Given the description of an element on the screen output the (x, y) to click on. 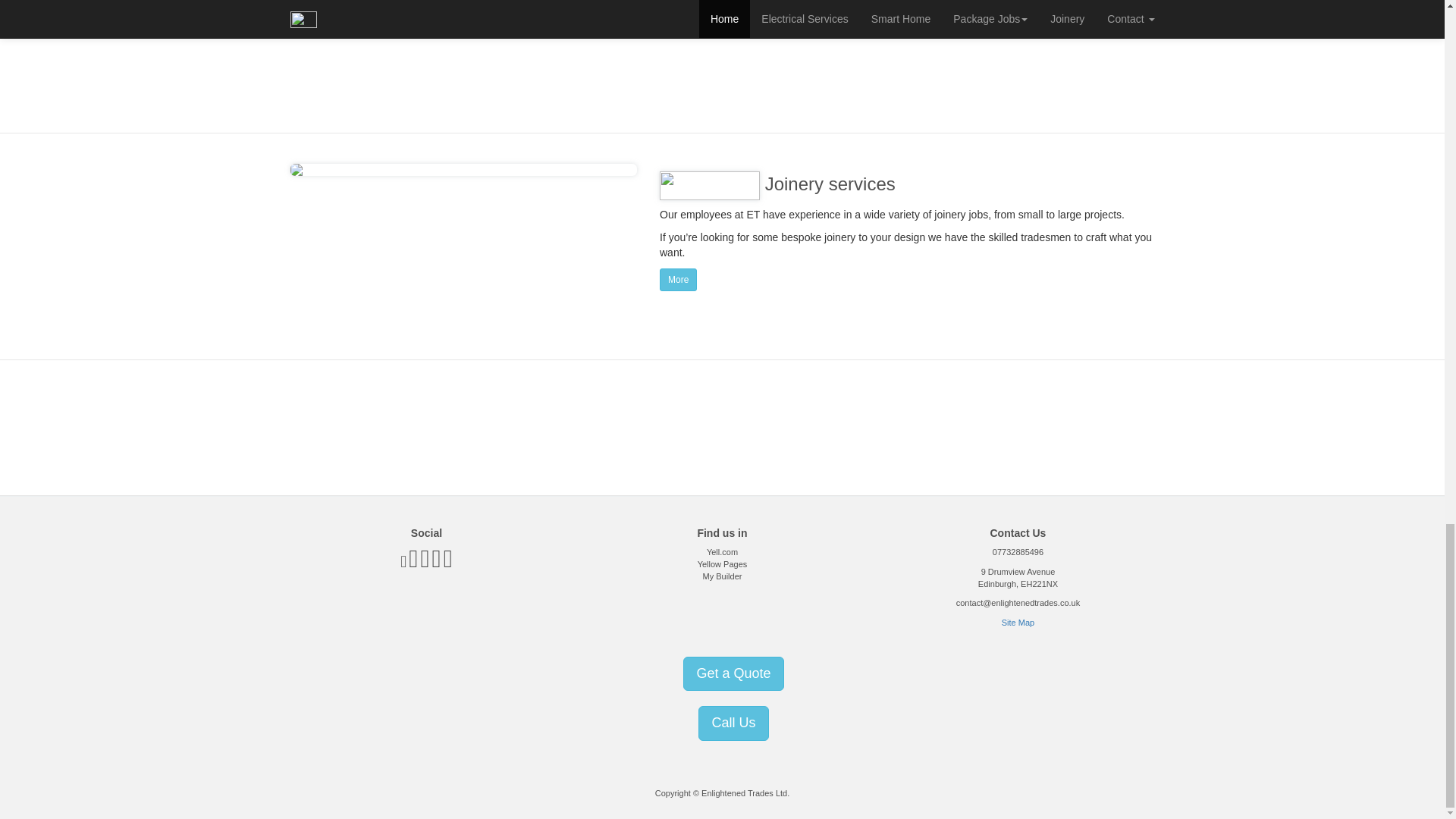
Get a Quote (732, 673)
More (678, 279)
Call Us (733, 723)
More (678, 278)
Bathroom Fits (325, 9)
Bathroom Fits (325, 6)
Site Map (1017, 622)
